Given the description of an element on the screen output the (x, y) to click on. 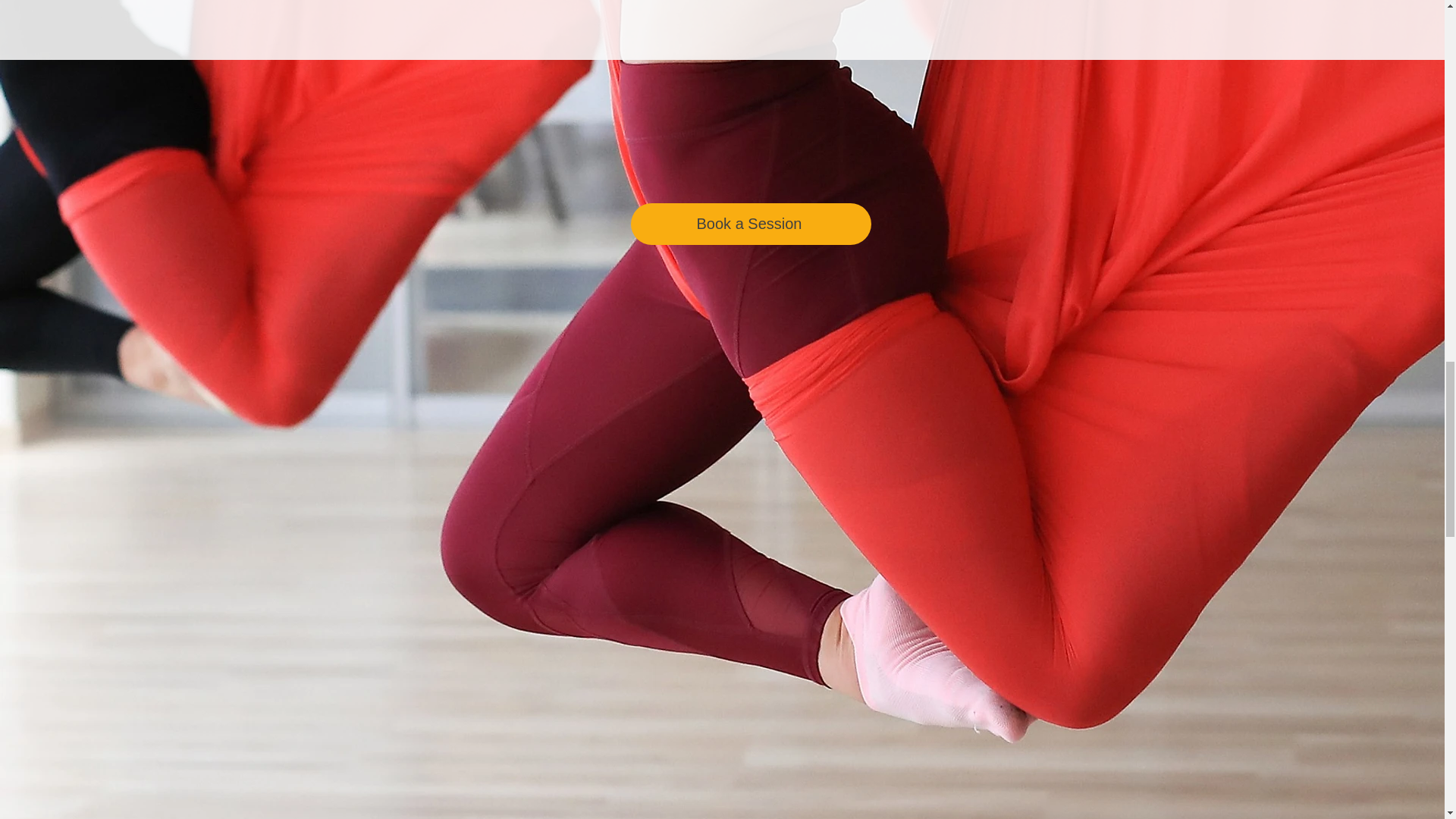
Book a Session (750, 223)
